Given the description of an element on the screen output the (x, y) to click on. 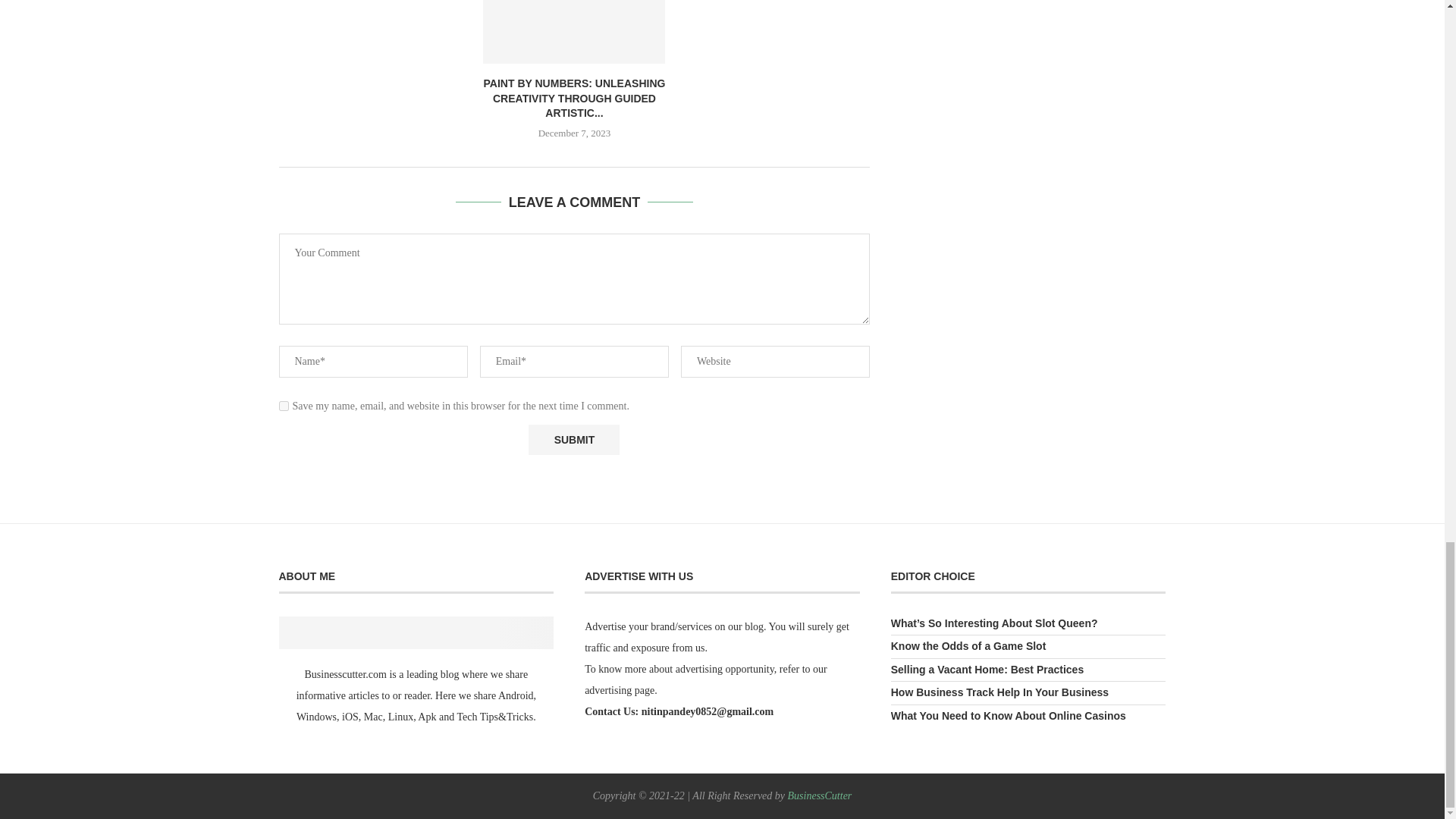
yes (283, 406)
Submit (574, 440)
